Given the description of an element on the screen output the (x, y) to click on. 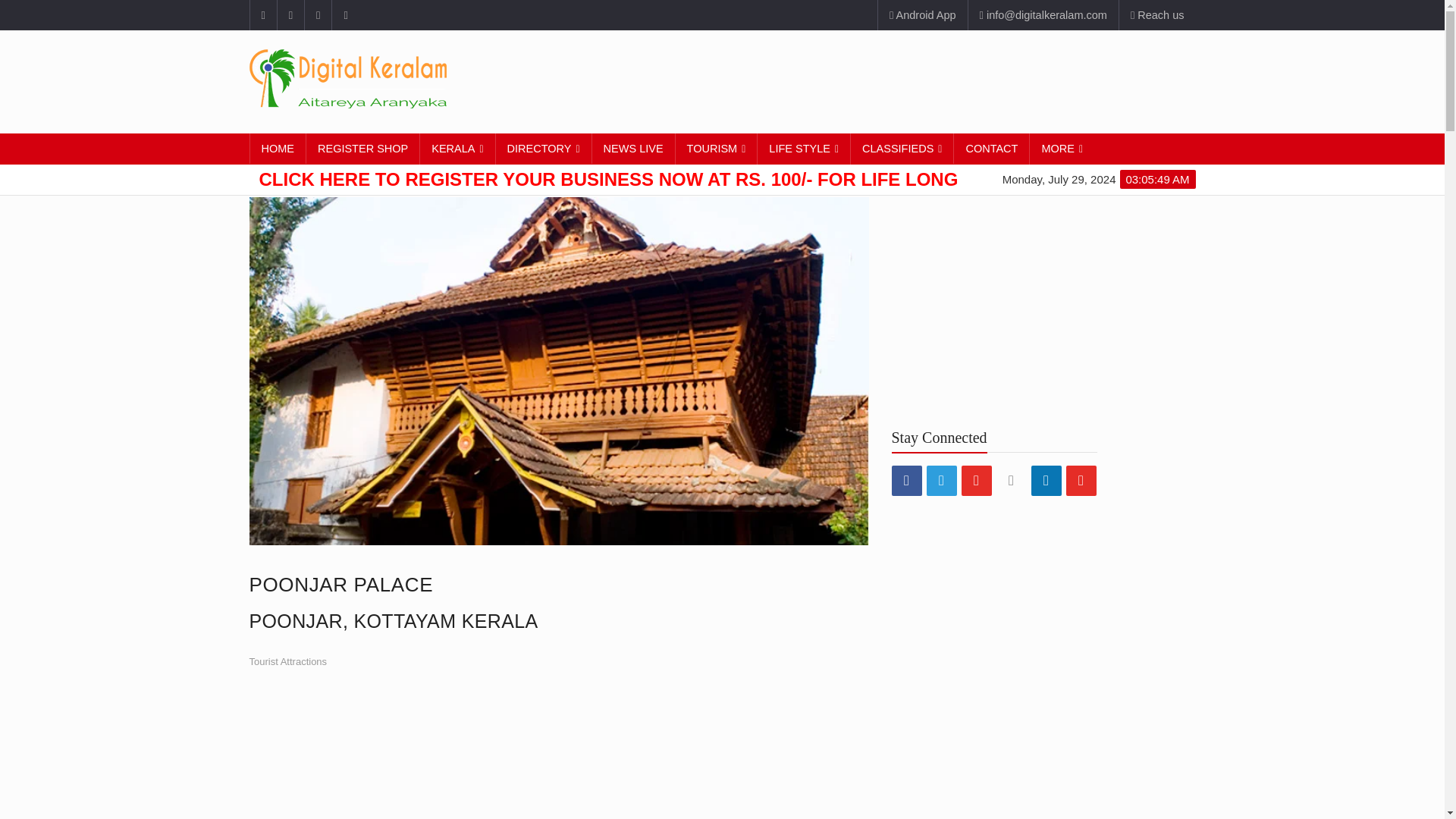
Digital Keralam on Pinterest (317, 15)
Digital Keralam on Facebook (262, 15)
Digital Keralam on Twitter (290, 15)
Advertisement (919, 79)
Digital Keralam on Youtube (344, 15)
Android App (922, 15)
Reach us (1156, 15)
Download Android App (922, 15)
